Given the description of an element on the screen output the (x, y) to click on. 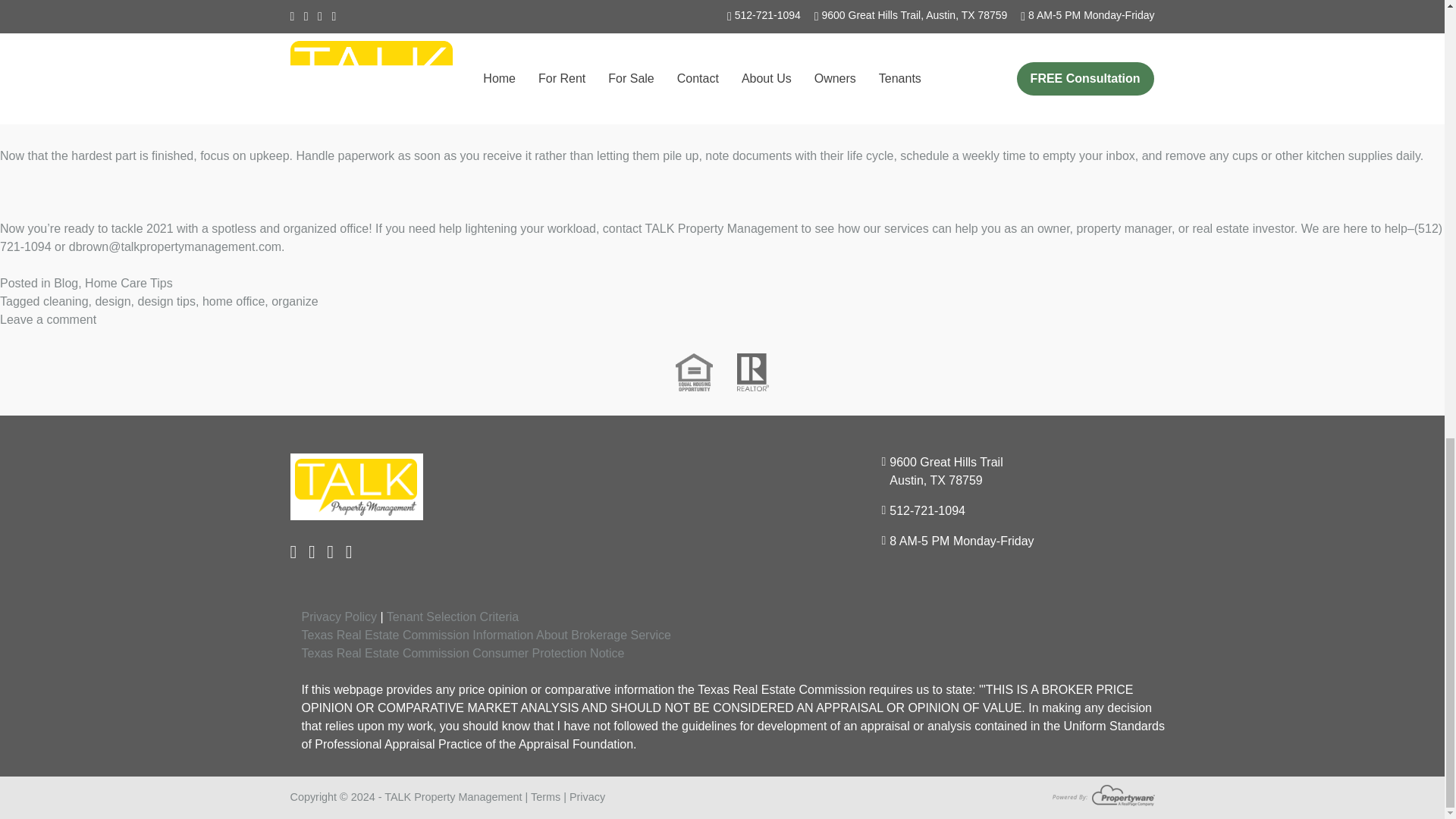
Powered by PropertyWare (1103, 794)
organize (293, 300)
our services (895, 228)
Privacy Policy (339, 616)
design (112, 300)
Leave a comment (48, 318)
Blog (65, 282)
design tips (165, 300)
home office (233, 300)
cleaning (65, 300)
Home Care Tips (128, 282)
